Given the description of an element on the screen output the (x, y) to click on. 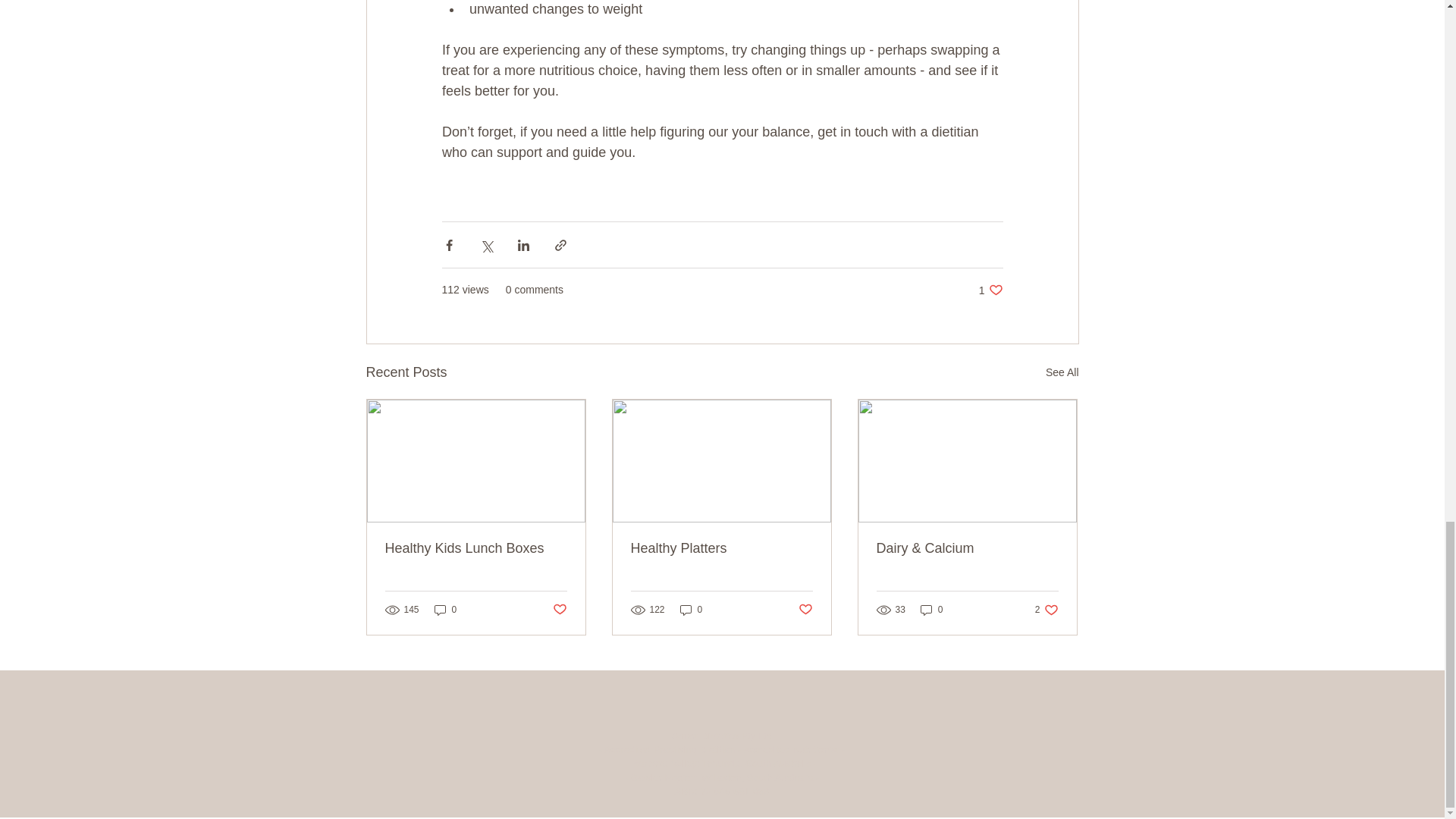
0 (1046, 609)
Post not marked as liked (691, 609)
Healthy Platters (558, 609)
Healthy Kids Lunch Boxes (990, 289)
0 (721, 548)
Post not marked as liked (476, 548)
0 (445, 609)
See All (804, 609)
